Given the description of an element on the screen output the (x, y) to click on. 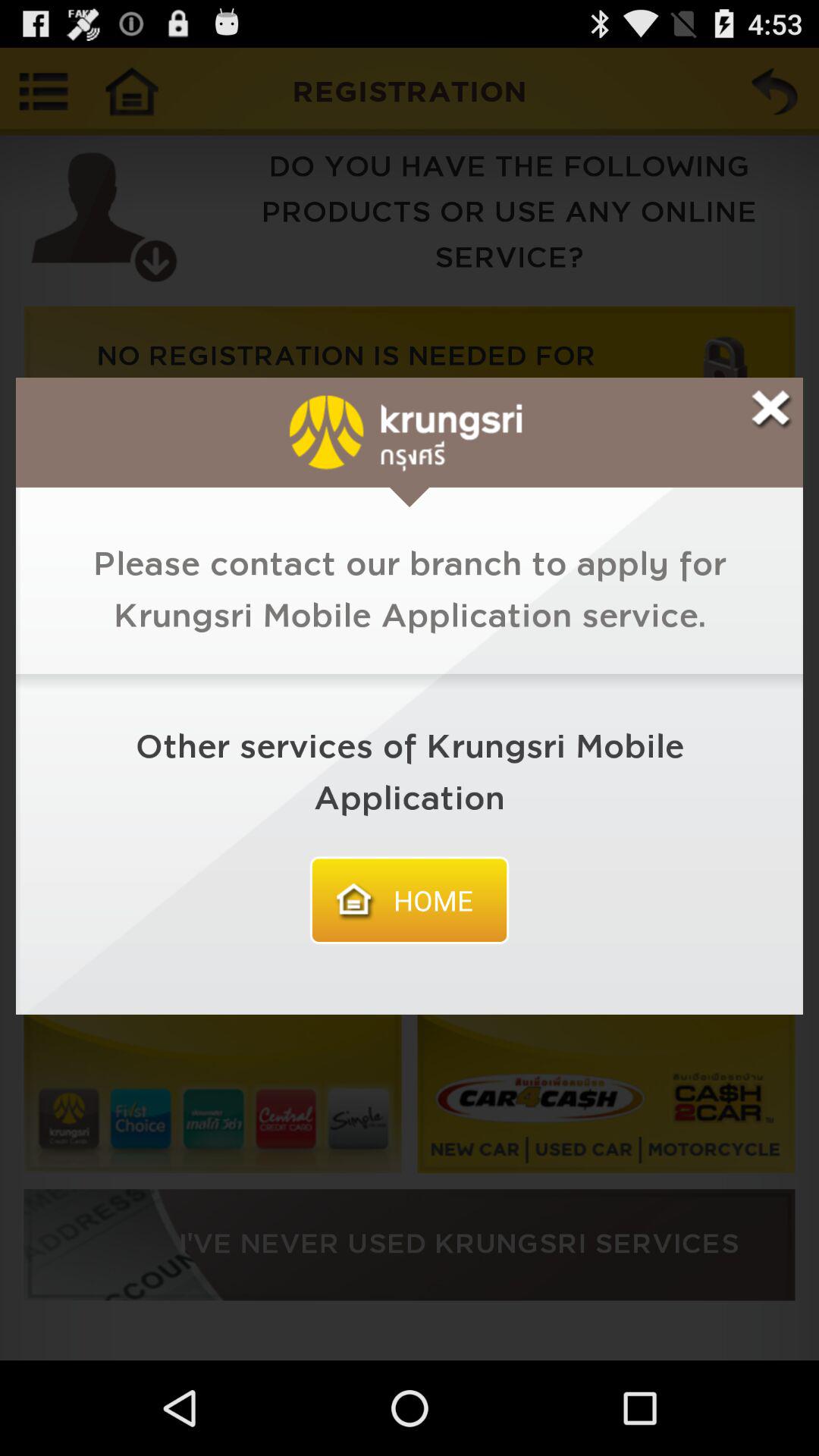
x button to exit the window that 's currently open (771, 409)
